Given the description of an element on the screen output the (x, y) to click on. 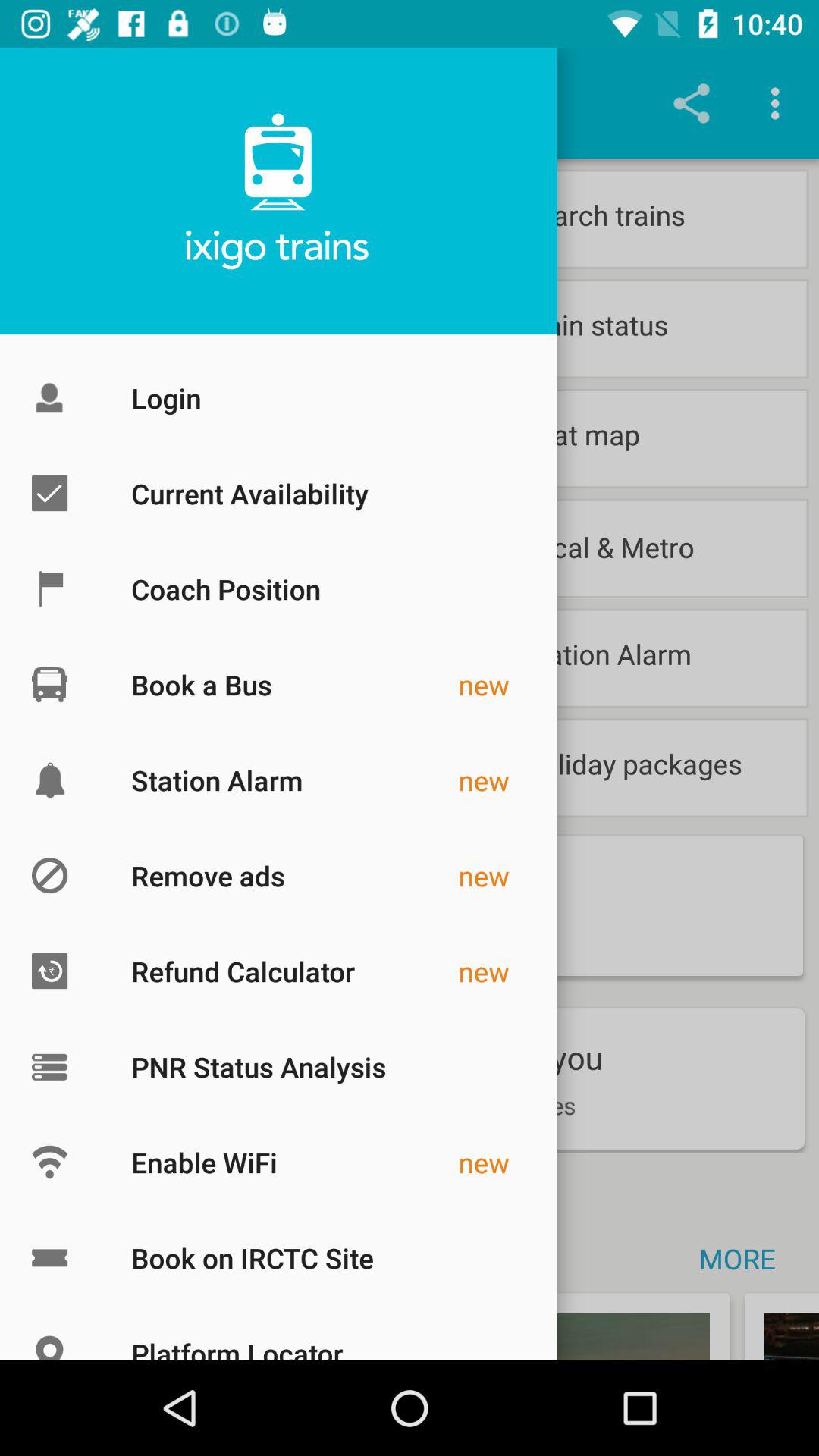
select the text more (745, 1258)
